Given the description of an element on the screen output the (x, y) to click on. 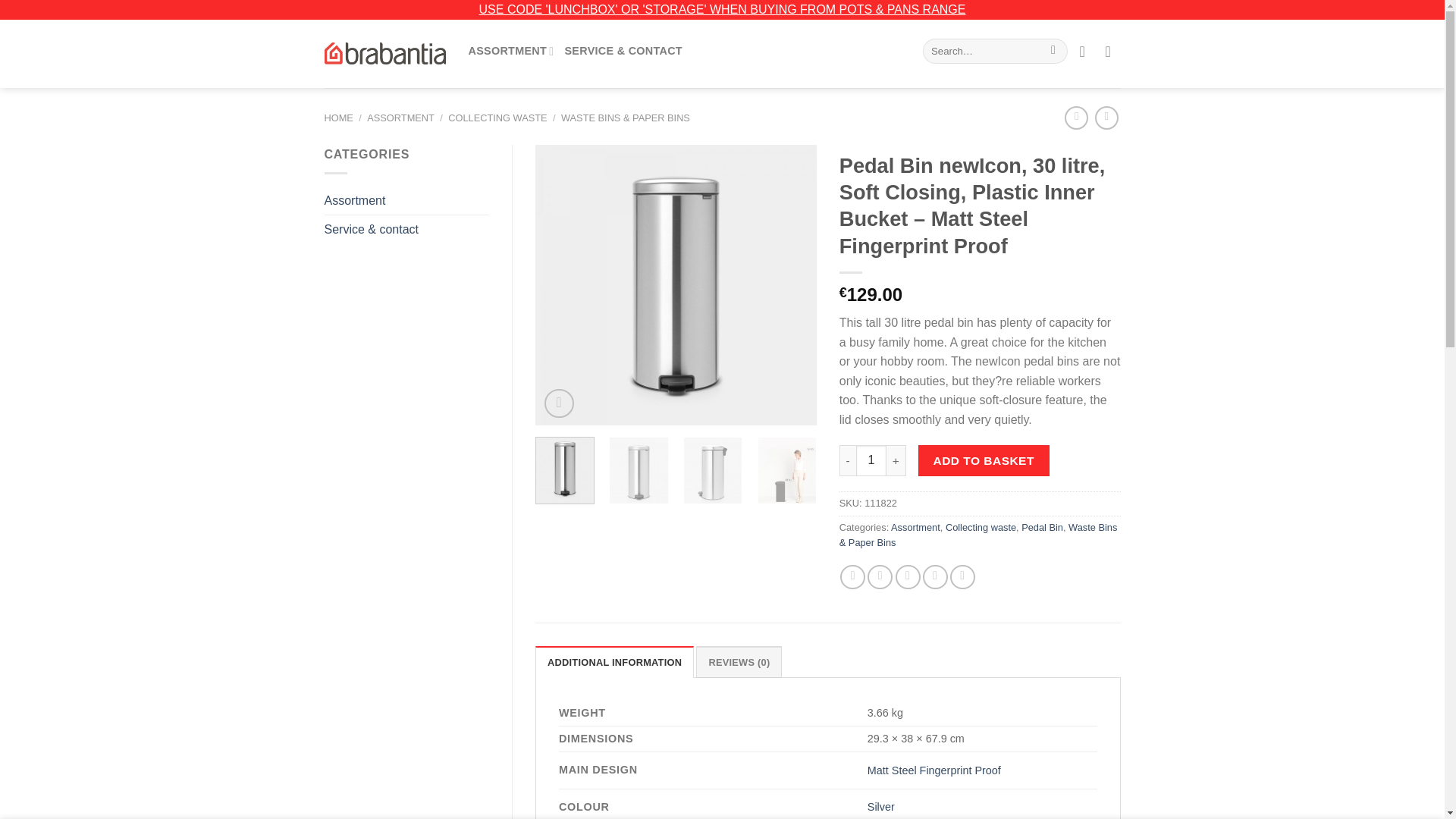
1 (871, 460)
Zoom (558, 403)
Pin on Pinterest (935, 576)
Share on Twitter (879, 576)
Share on Facebook (852, 576)
Email to a Friend (907, 576)
ASSORTMENT (511, 51)
